Given the description of an element on the screen output the (x, y) to click on. 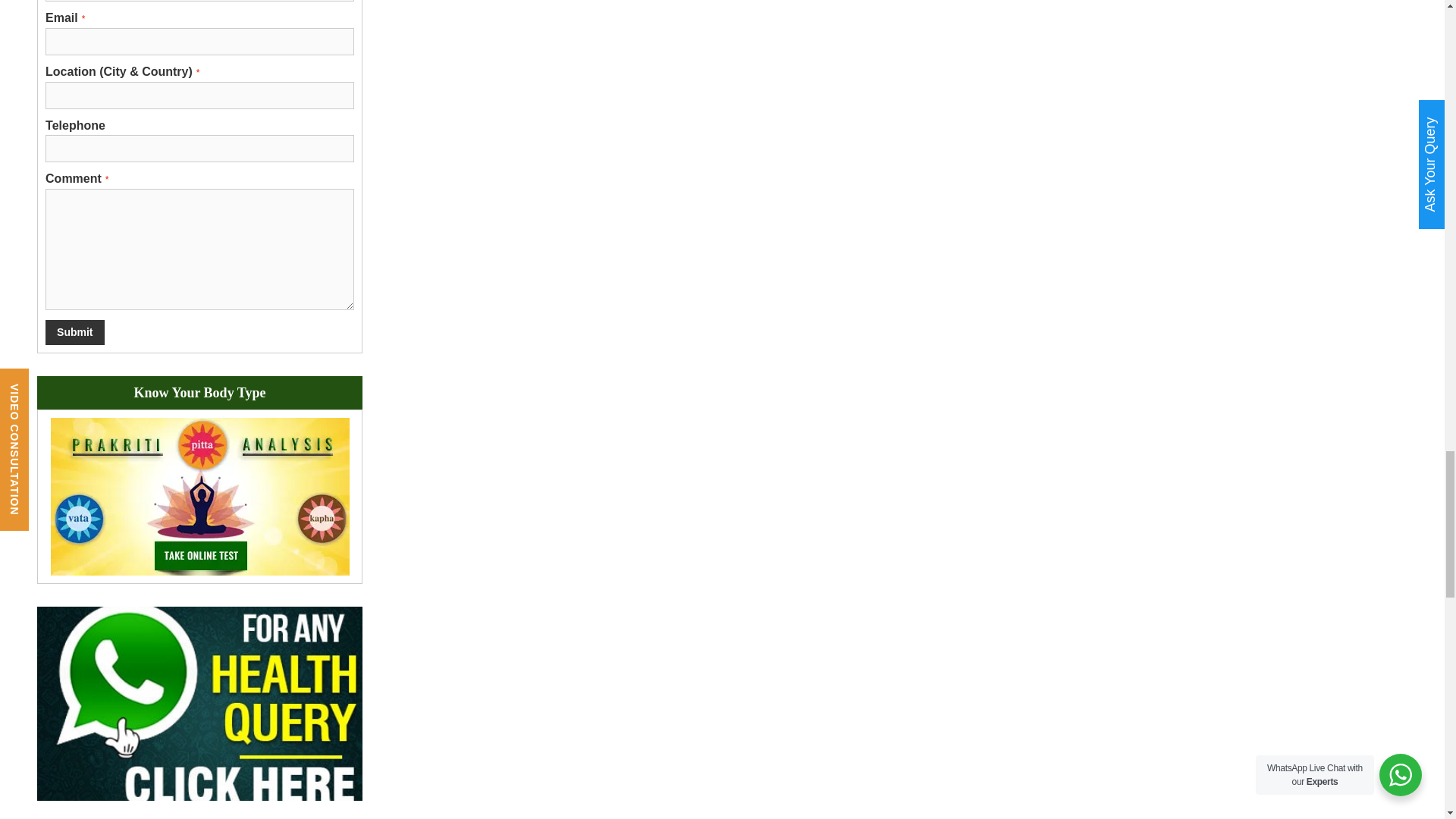
Submit (74, 332)
